Given the description of an element on the screen output the (x, y) to click on. 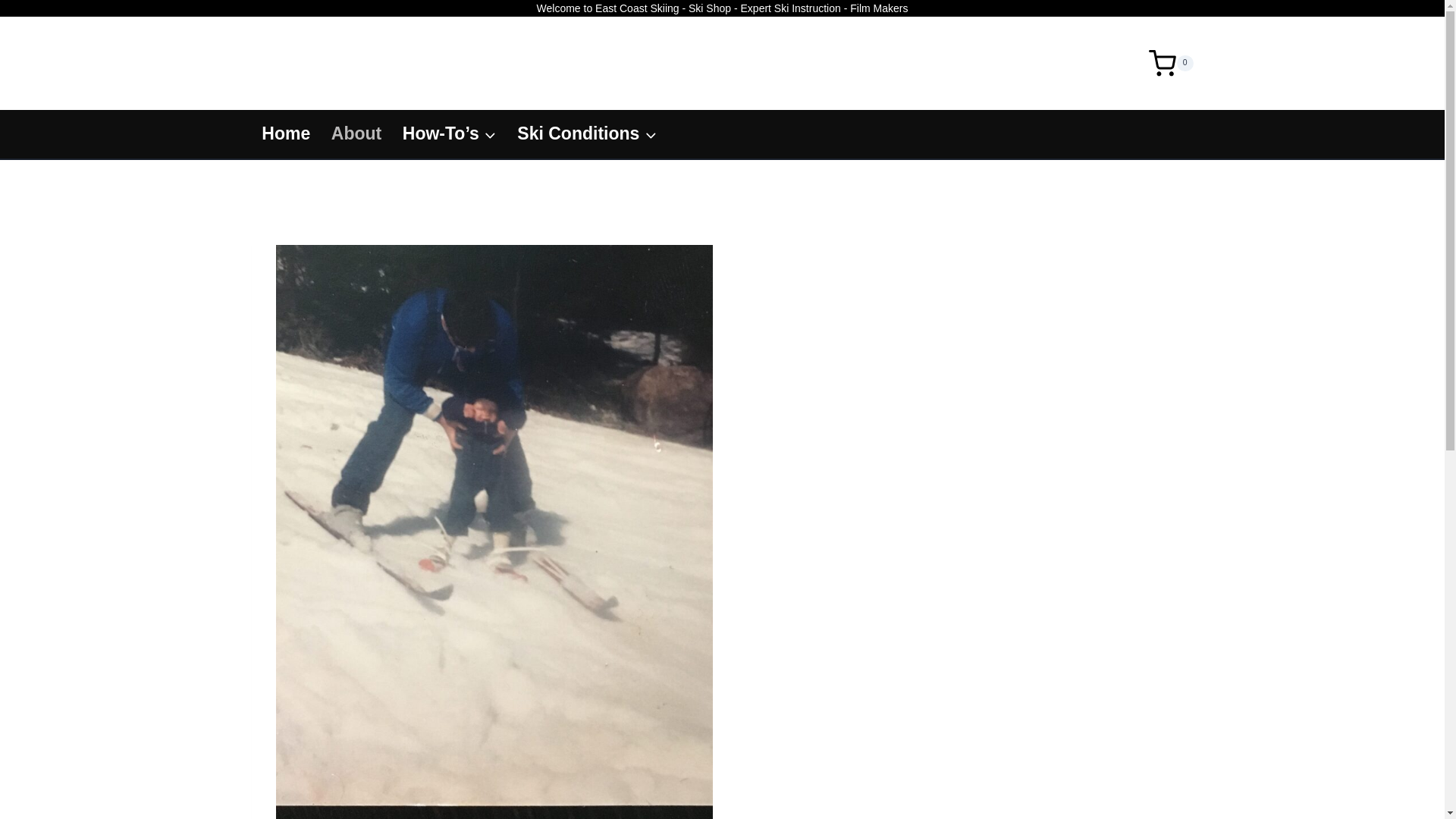
Ski Conditions (587, 133)
About (355, 133)
Home (286, 133)
0 (1170, 62)
